Given the description of an element on the screen output the (x, y) to click on. 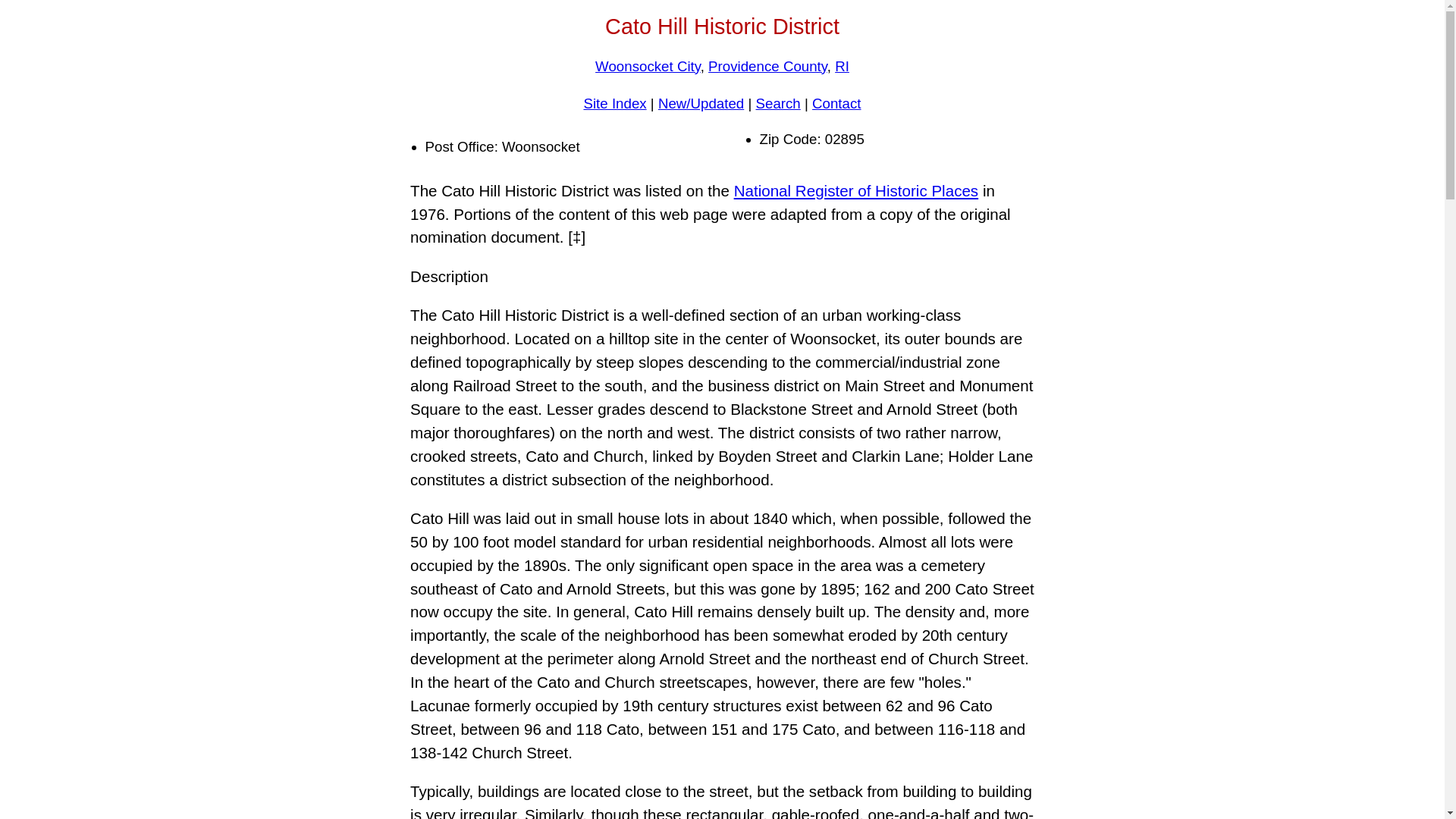
Site Index (614, 103)
